Given the description of an element on the screen output the (x, y) to click on. 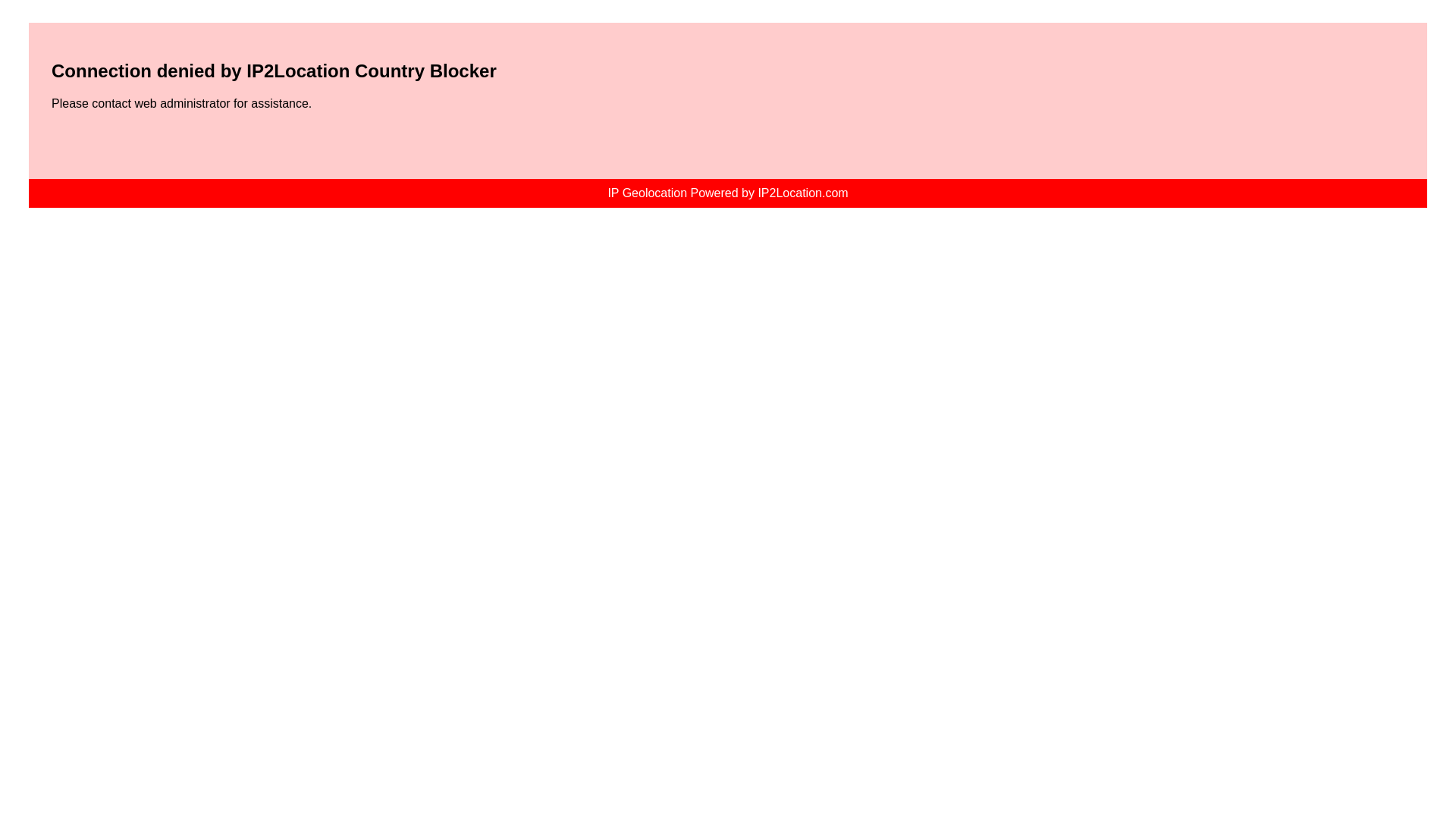
IP Geolocation Powered by IP2Location.com (727, 192)
